Given the description of an element on the screen output the (x, y) to click on. 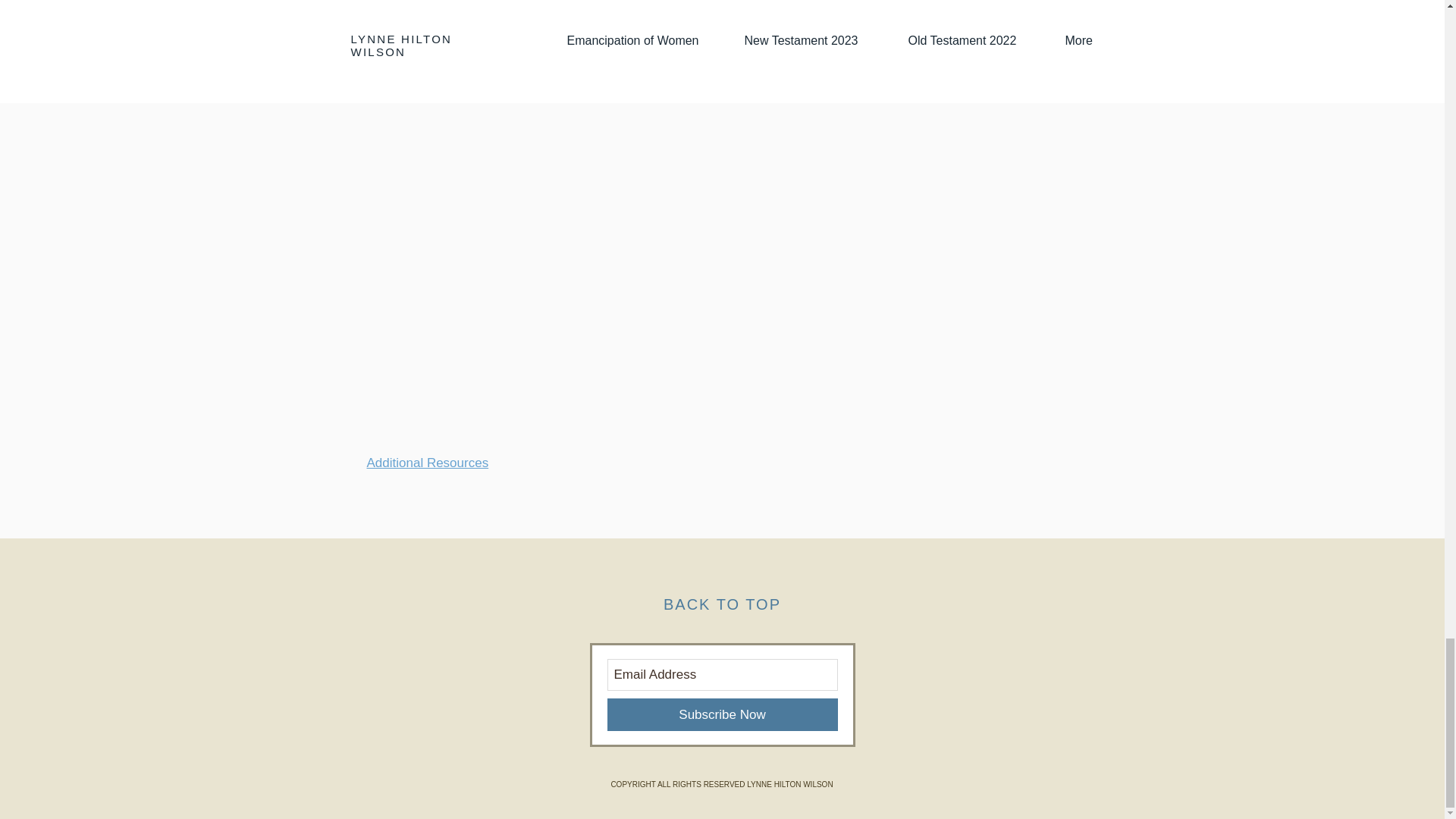
Additional Resources (427, 462)
BACK TO TOP (721, 604)
Subscribe Now (722, 714)
